Given the description of an element on the screen output the (x, y) to click on. 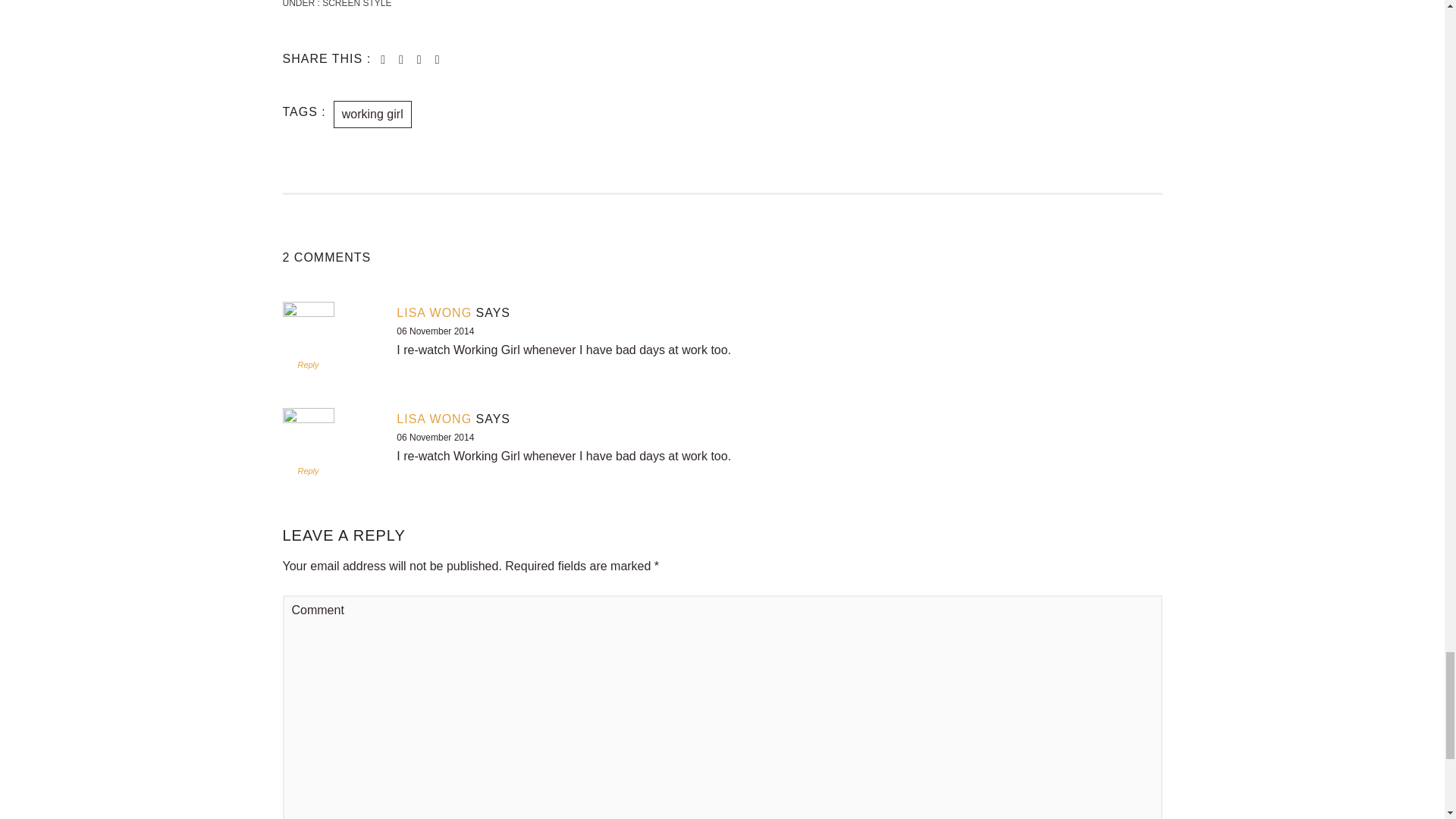
working girl (372, 113)
LISA WONG (433, 418)
Reply (307, 470)
View all posts in screen style (355, 4)
SCREEN STYLE (355, 4)
Reply (307, 364)
LISA WONG (433, 312)
